Given the description of an element on the screen output the (x, y) to click on. 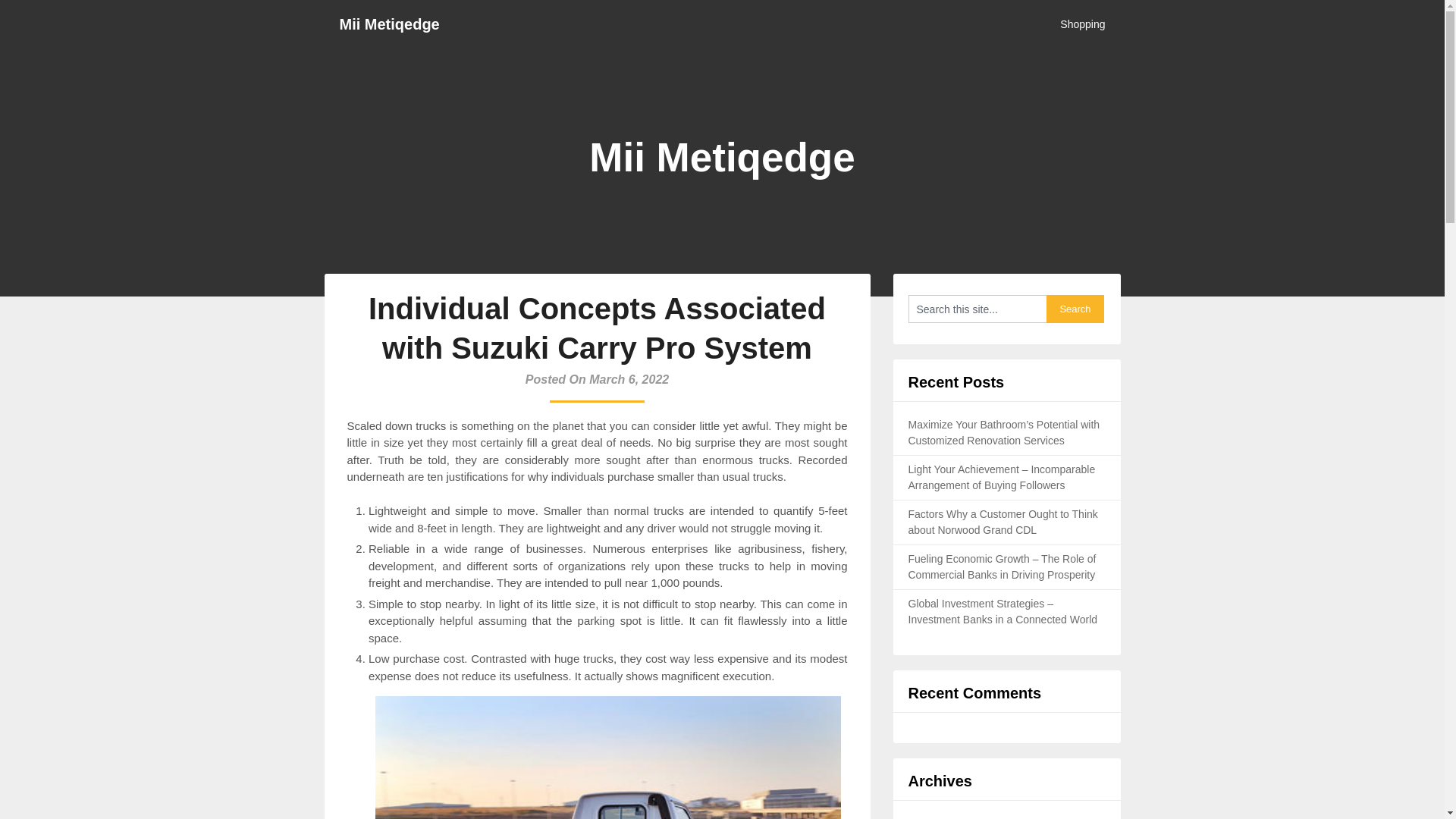
Search (1075, 308)
Mii Metiqedge (389, 24)
Shopping (1089, 24)
June 2024 (933, 818)
Search this site... (977, 308)
Search (1075, 308)
